Given the description of an element on the screen output the (x, y) to click on. 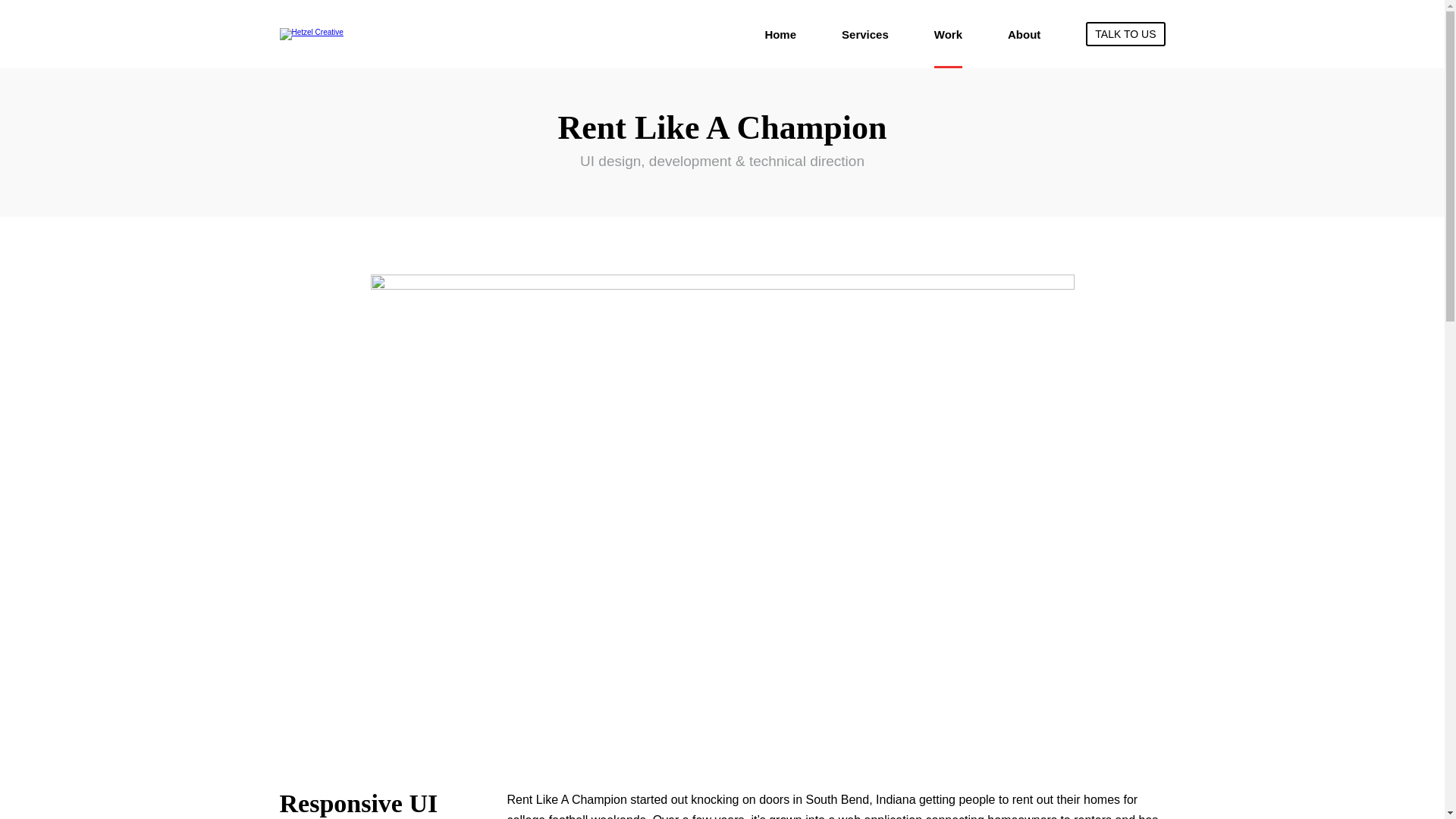
About (1024, 33)
Home (780, 33)
Work (948, 33)
Services (864, 33)
TALK TO US (1125, 33)
